Given the description of an element on the screen output the (x, y) to click on. 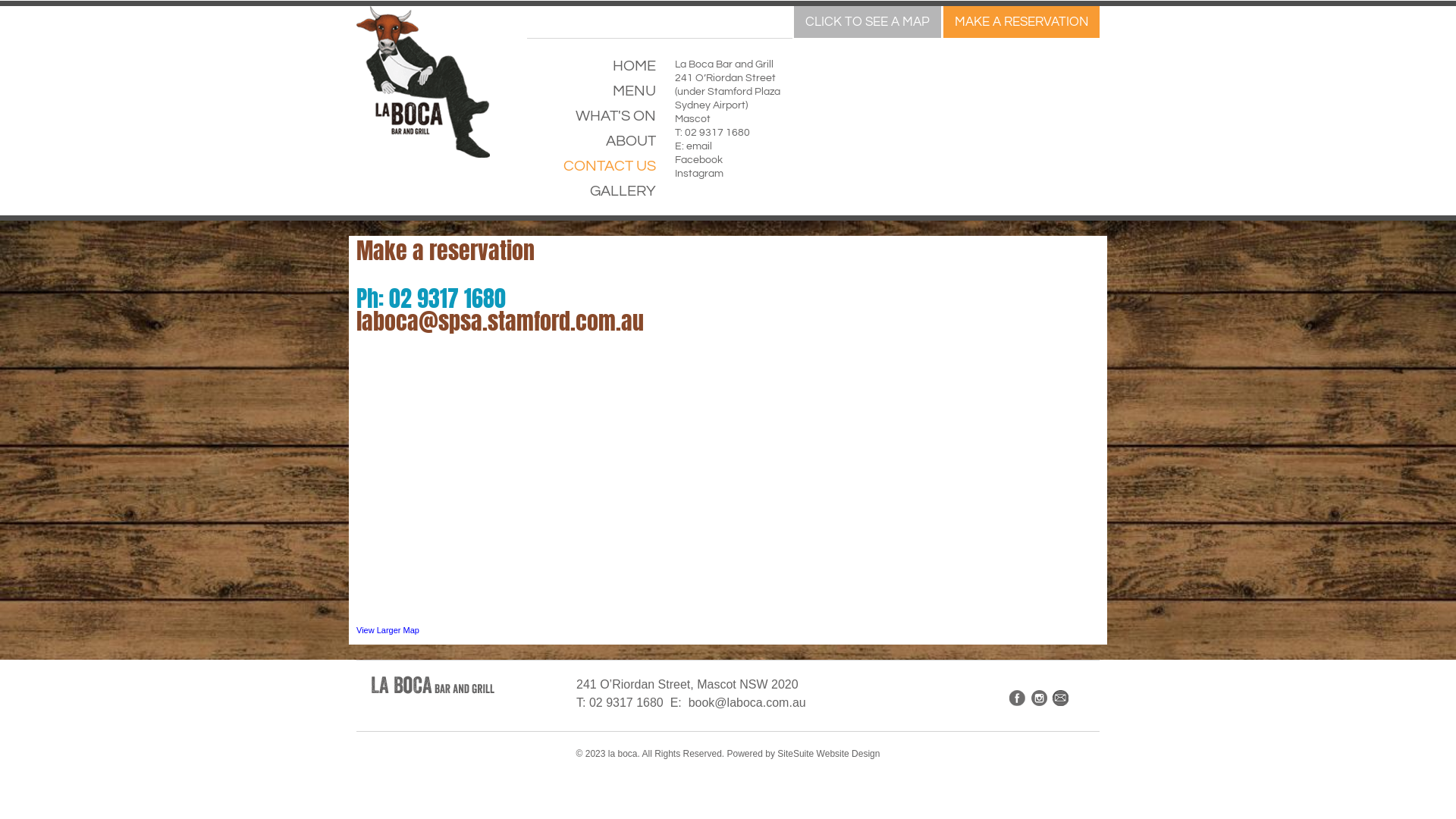
Facebook Element type: hover (1017, 698)
HOME Element type: text (591, 71)
WHAT'S ON Element type: text (591, 121)
book@laboca.com.au Element type: text (747, 702)
CONTACT US Element type: text (591, 171)
Instagram Element type: hover (1039, 698)
La Boca bar and grill Element type: hover (432, 684)
02 9317 1680 Element type: text (716, 132)
View Larger Map Element type: text (387, 629)
laboca@spsa.stamford.com.au Element type: text (499, 321)
email Element type: text (699, 146)
Make a reservation Element type: text (445, 250)
ABOUT Element type: text (591, 146)
Instagram Element type: text (698, 173)
MAKE A RESERVATION Element type: text (1021, 21)
CLICK TO SEE A MAP Element type: text (867, 21)
GALLERY Element type: text (591, 196)
SiteSuite Website Design Element type: text (828, 753)
Facebook Element type: hover (1017, 702)
Facebook Element type: text (698, 159)
Instagram Element type: hover (1039, 702)
MENU Element type: text (591, 96)
